Given the description of an element on the screen output the (x, y) to click on. 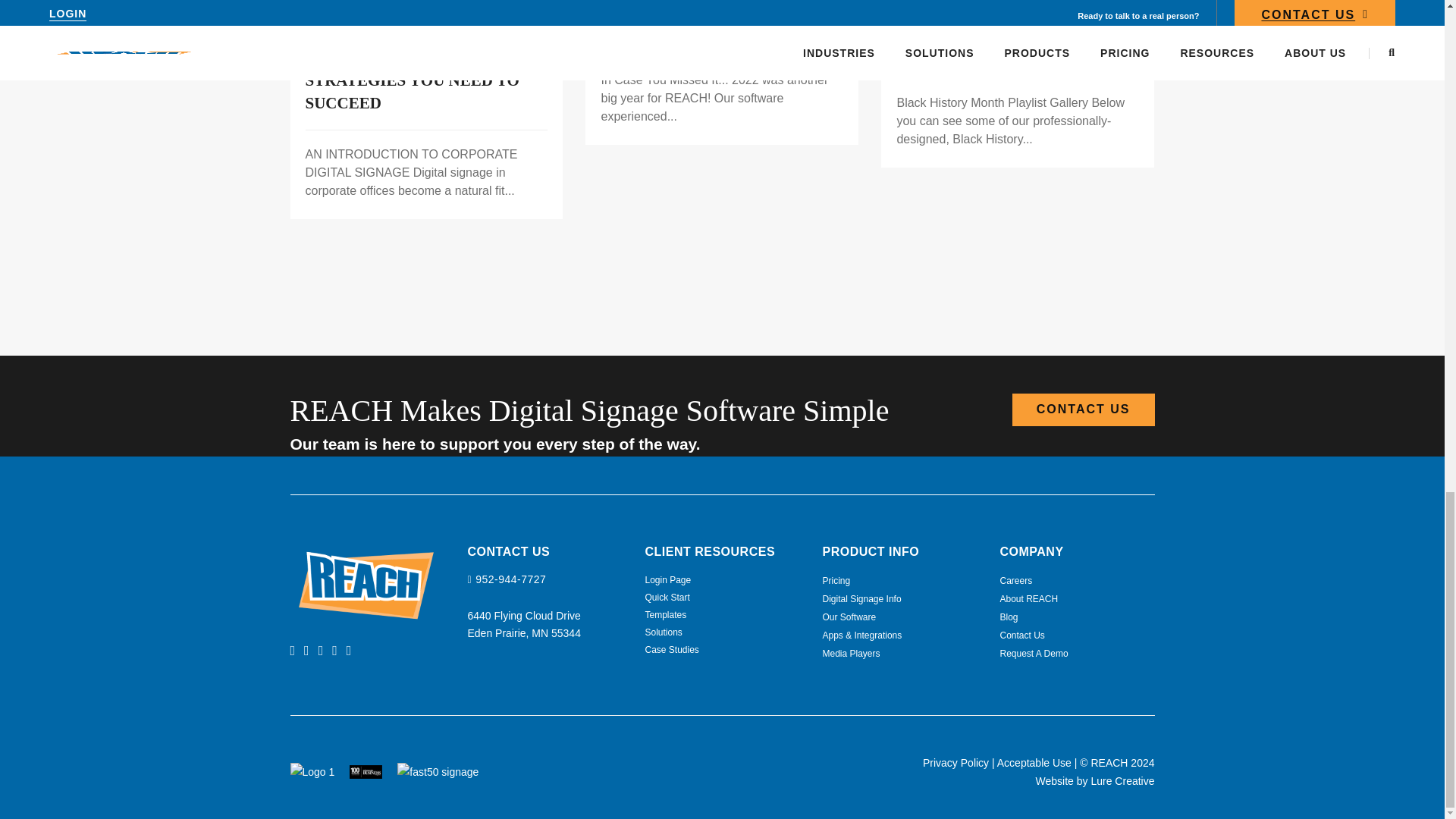
Corporate Example 1 - REACH Media Network (425, 13)
reach-logo - REACH Media Network (365, 585)
